Given the description of an element on the screen output the (x, y) to click on. 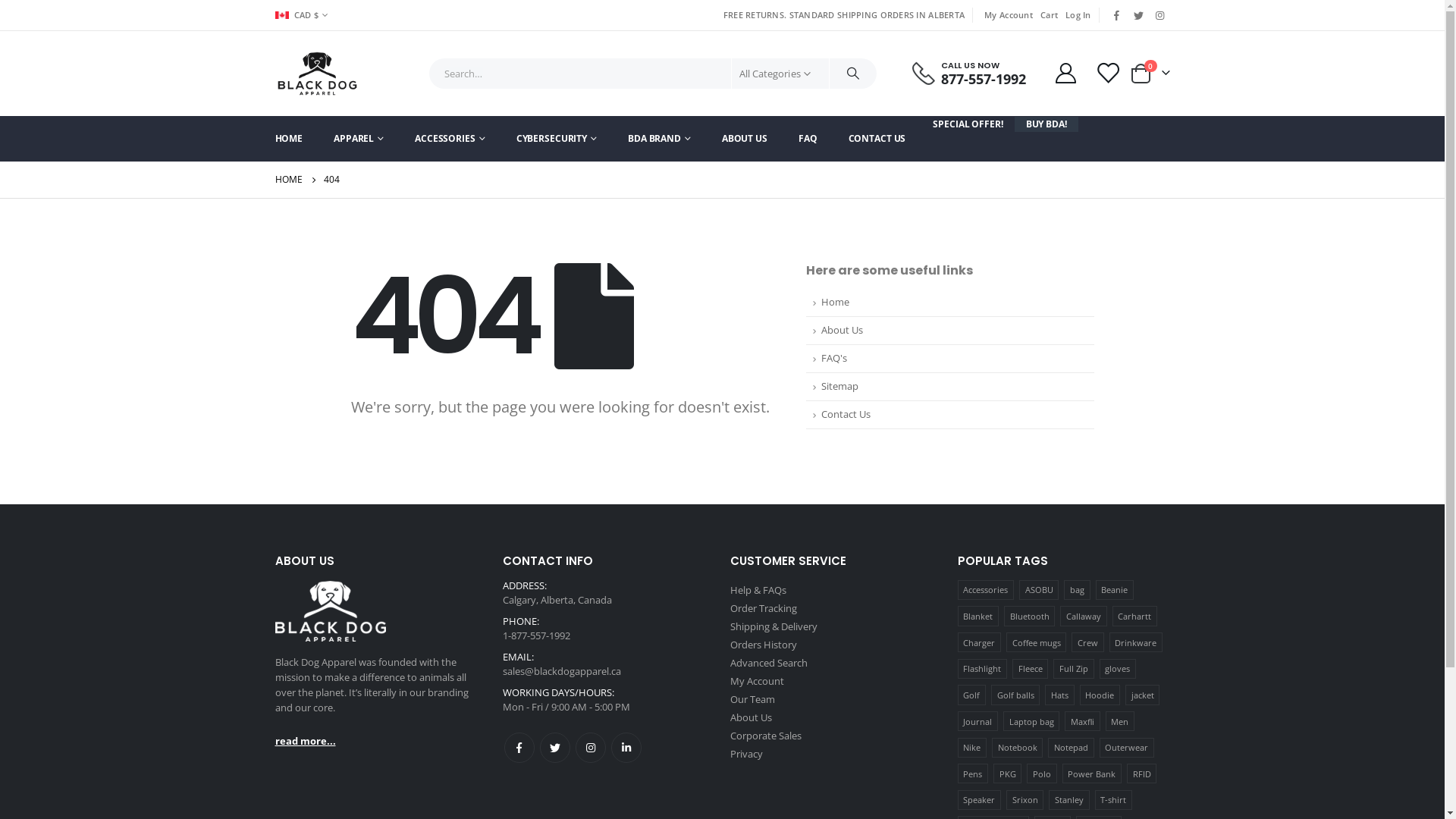
APPAREL Element type: text (358, 138)
Outerwear Element type: text (1126, 747)
Wishlist Element type: hover (1107, 72)
Accessories Element type: text (985, 589)
Sitemap Element type: text (949, 387)
Laptop bag Element type: text (1031, 721)
T-shirt Element type: text (1113, 799)
Beanie Element type: text (1114, 589)
SPECIAL OFFER! Element type: text (967, 123)
Srixon Element type: text (1024, 799)
Speaker Element type: text (978, 799)
Fleece Element type: text (1030, 668)
read more... Element type: text (304, 740)
Contact Us Element type: text (949, 415)
HOME Element type: text (295, 138)
My Account Element type: text (1008, 15)
RFID Element type: text (1141, 773)
Men Element type: text (1119, 721)
Polo Element type: text (1041, 773)
Notebook Element type: text (1016, 747)
CYBERSECURITY Element type: text (556, 138)
Golf Element type: text (971, 694)
Our Team Element type: text (751, 699)
Instagram Element type: hover (1160, 15)
jacket Element type: text (1142, 694)
Journal Element type: text (977, 721)
Corporate Sales Element type: text (764, 735)
Blanket Element type: text (977, 615)
BDA BRAND Element type: text (659, 138)
Facebook Element type: text (518, 747)
My Account Element type: text (756, 680)
Notepad Element type: text (1070, 747)
Hoodie Element type: text (1099, 694)
bag Element type: text (1076, 589)
Shipping & Delivery Element type: text (772, 626)
ACCESSORIES Element type: text (449, 138)
Home Element type: text (949, 302)
PKG Element type: text (1007, 773)
Nike Element type: text (971, 747)
Help & FAQs Element type: text (757, 589)
Advanced Search Element type: text (767, 662)
FAQ Element type: text (807, 138)
Flashlight Element type: text (981, 668)
ASOBU Element type: text (1038, 589)
Cart Element type: text (1048, 15)
Privacy Element type: text (745, 753)
Maxfli Element type: text (1081, 721)
Instagram Element type: text (589, 747)
Power Bank Element type: text (1091, 773)
Pens Element type: text (972, 773)
Full Zip Element type: text (1073, 668)
Search Element type: hover (852, 73)
BUY BDA! Element type: text (1046, 123)
Facebook Element type: hover (1116, 15)
Orders History Element type: text (762, 644)
Order Tracking Element type: text (762, 608)
About Us Element type: text (750, 717)
CONTACT US Element type: text (877, 138)
gloves Element type: text (1117, 668)
ABOUT US Element type: text (744, 138)
My Account Element type: hover (1066, 72)
Stanley Element type: text (1068, 799)
Callaway Element type: text (1083, 615)
Log In Element type: text (1076, 15)
Bluetooth Element type: text (1029, 615)
CAD $ Element type: text (302, 15)
About Us Element type: text (949, 330)
Crew Element type: text (1087, 642)
Drinkware Element type: text (1135, 642)
Golf balls Element type: text (1015, 694)
Charger Element type: text (978, 642)
FAQ's Element type: text (949, 359)
Twitter Element type: hover (1138, 15)
sales@blackdogapparel.ca Element type: text (561, 670)
Twitter Element type: text (554, 747)
Linkedin Element type: text (626, 747)
HOME Element type: text (287, 179)
Carhartt Element type: text (1134, 615)
Coffee mugs Element type: text (1036, 642)
Hats Element type: text (1058, 694)
